Given the description of an element on the screen output the (x, y) to click on. 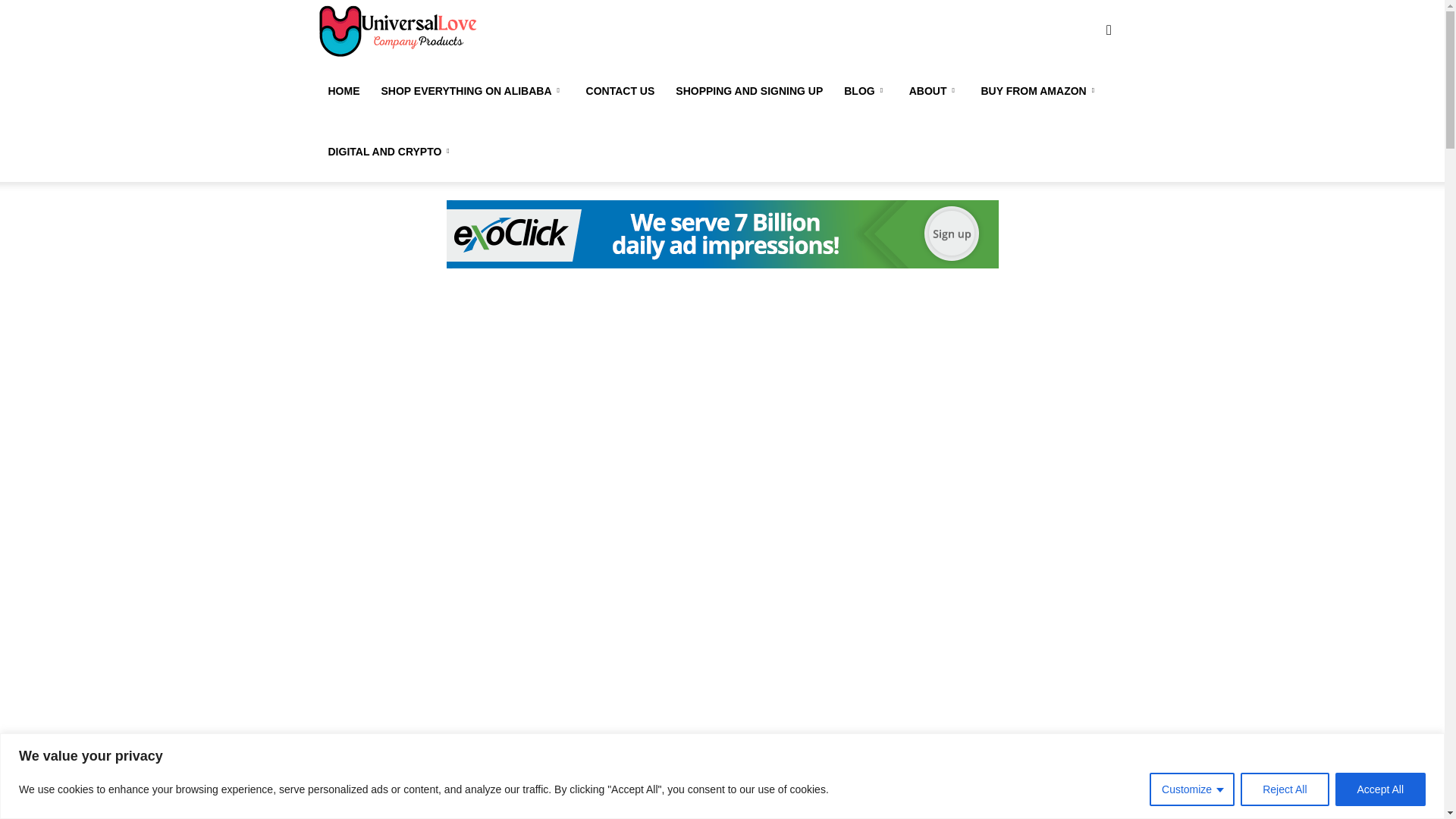
Customize (1192, 788)
Reject All (1283, 788)
Accept All (1380, 788)
